Given the description of an element on the screen output the (x, y) to click on. 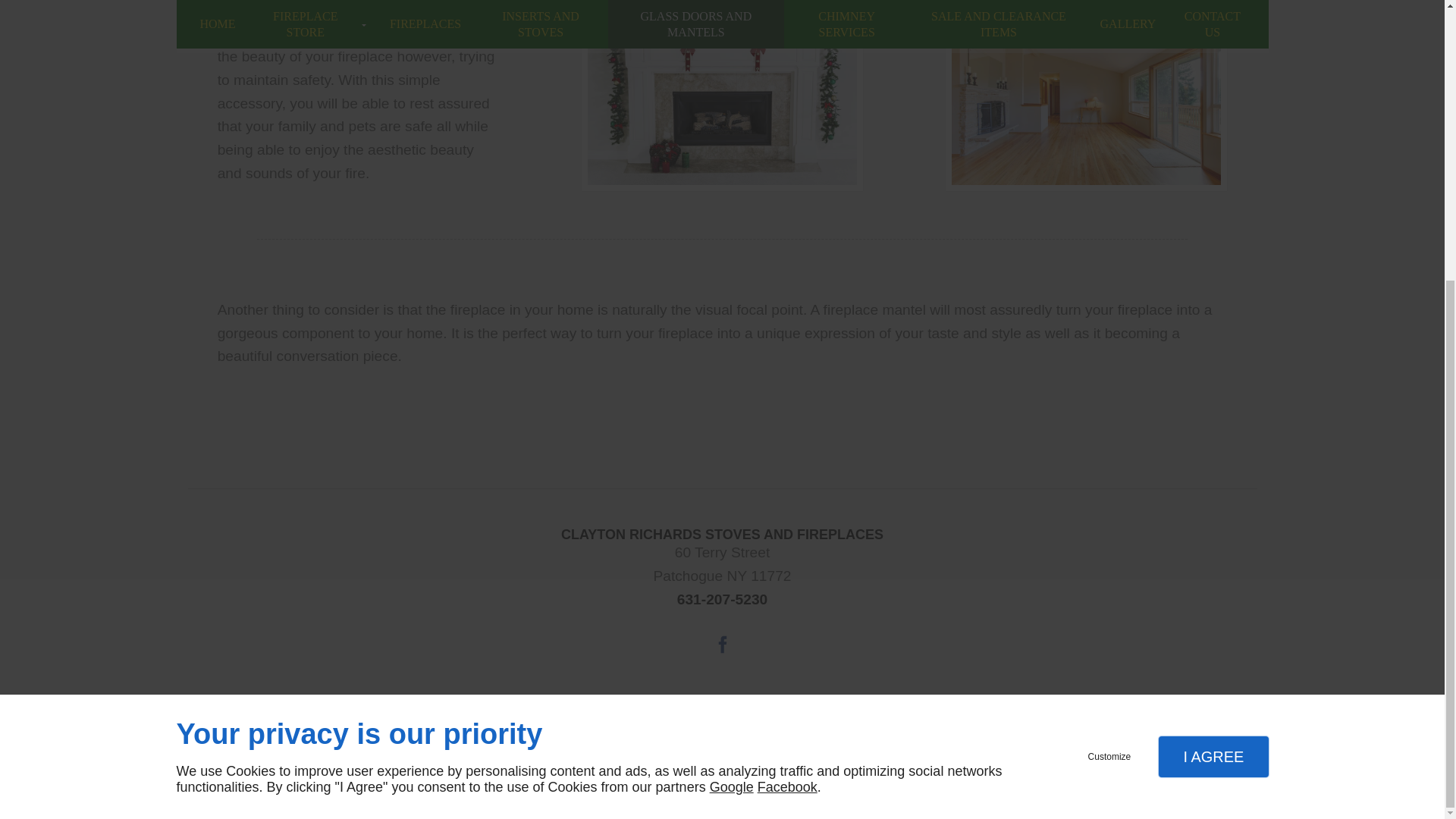
linkeo (721, 775)
Facebook (721, 644)
